Given the description of an element on the screen output the (x, y) to click on. 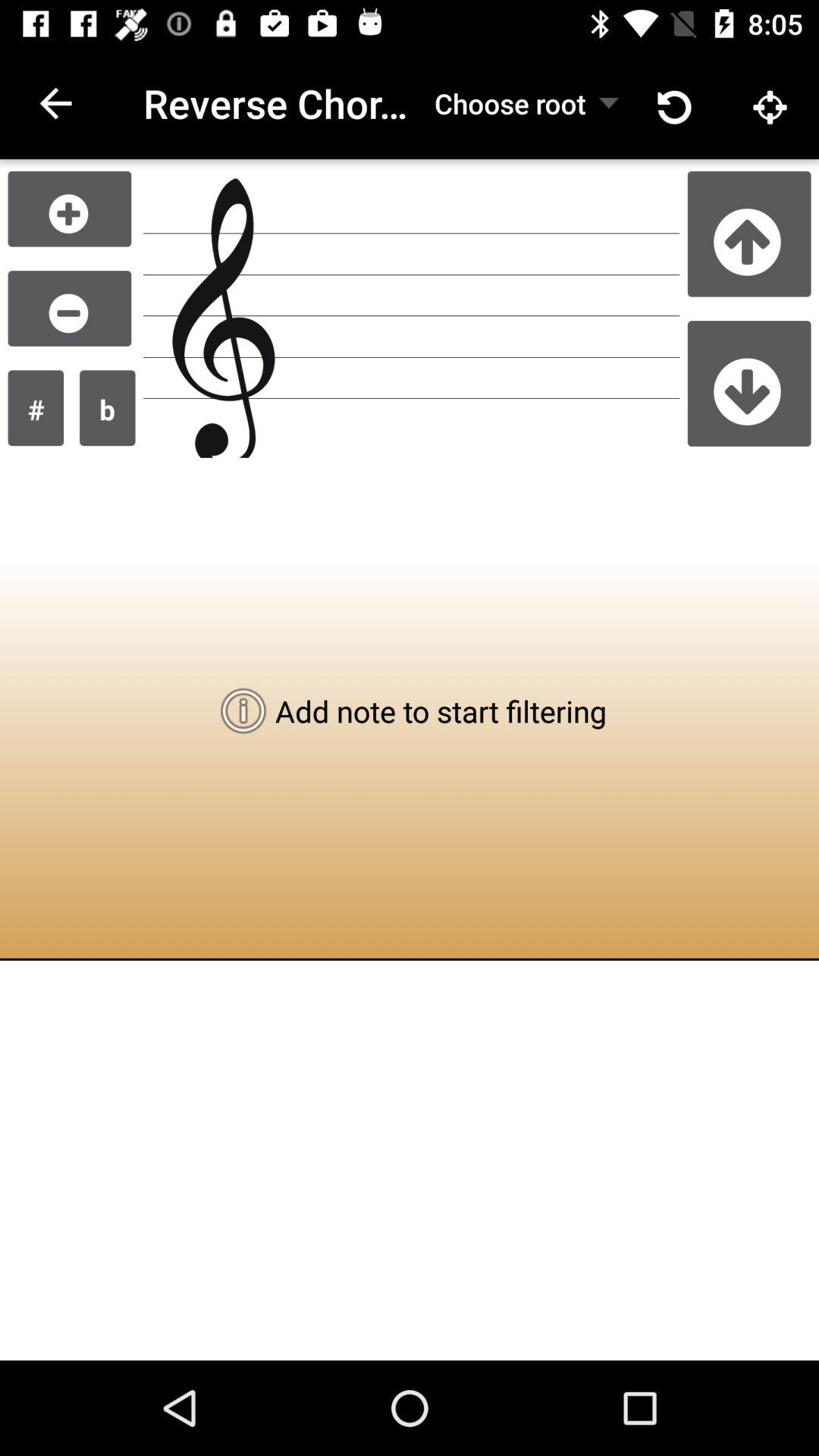
turn on the icon to the left of the reverse chord lookup item (55, 103)
